Given the description of an element on the screen output the (x, y) to click on. 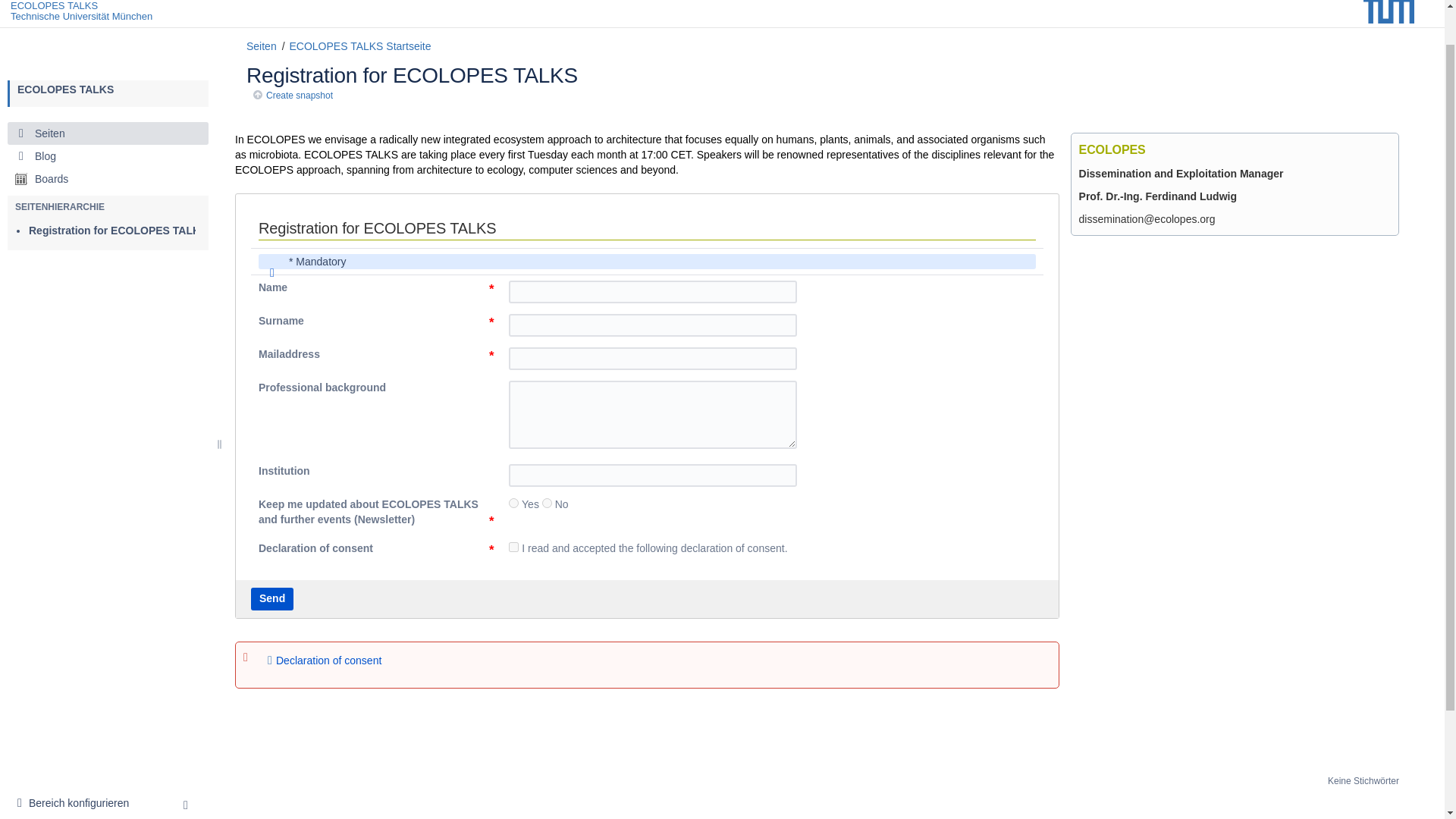
1 (513, 502)
Seiten (107, 92)
2 (546, 502)
Blog (107, 115)
Registration for ECOLOPES TALKS (117, 190)
Boards (107, 137)
ECOLOPES TALKS (53, 5)
ECOLOPES TALKS (65, 48)
Snapshots Status: Create snapshot (77, 762)
